Given the description of an element on the screen output the (x, y) to click on. 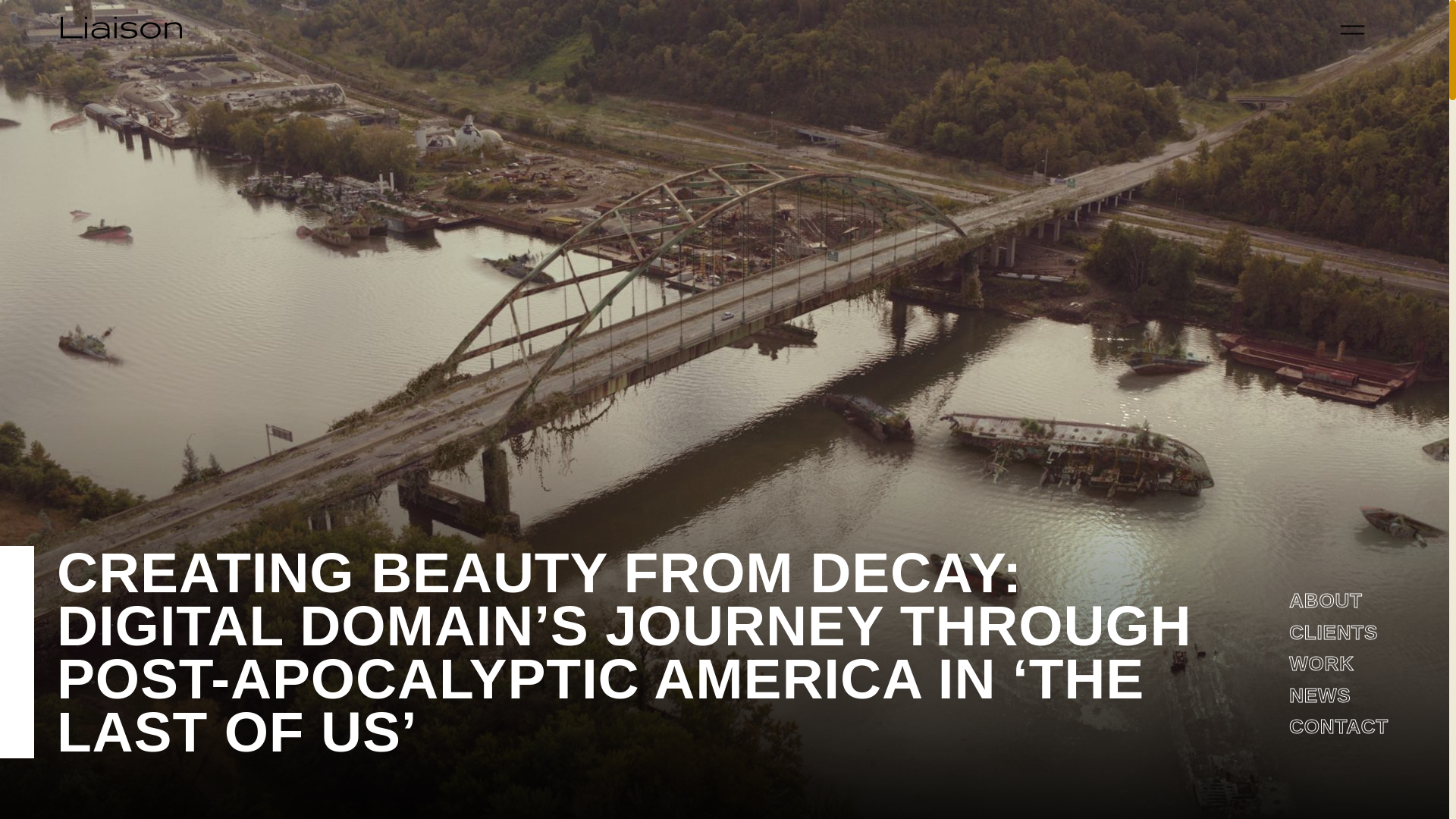
CONTACT (1338, 725)
NEWS (1319, 694)
CLIENTS (1332, 631)
WORK (1321, 662)
ABOUT (1324, 599)
